Given the description of an element on the screen output the (x, y) to click on. 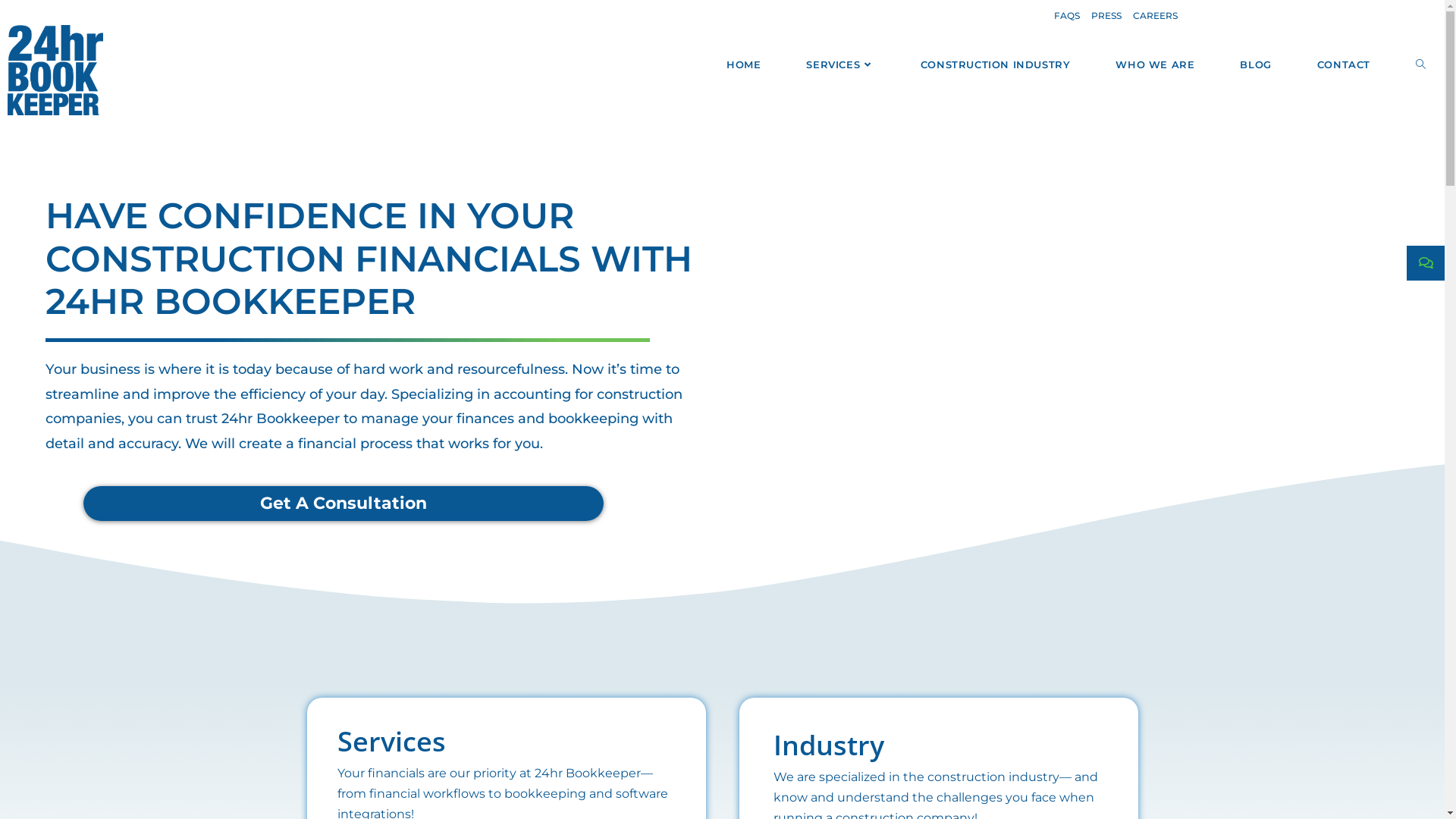
WHO WE ARE Element type: text (1154, 64)
SERVICES Element type: text (840, 64)
BLOG Element type: text (1255, 64)
Get A Consultation Element type: text (343, 503)
PRESS Element type: text (1105, 15)
FAQS Element type: text (1066, 15)
CONSTRUCTION INDUSTRY Element type: text (995, 64)
CAREERS Element type: text (1154, 15)
HOME Element type: text (743, 64)
CONTACT Element type: text (1343, 64)
